Given the description of an element on the screen output the (x, y) to click on. 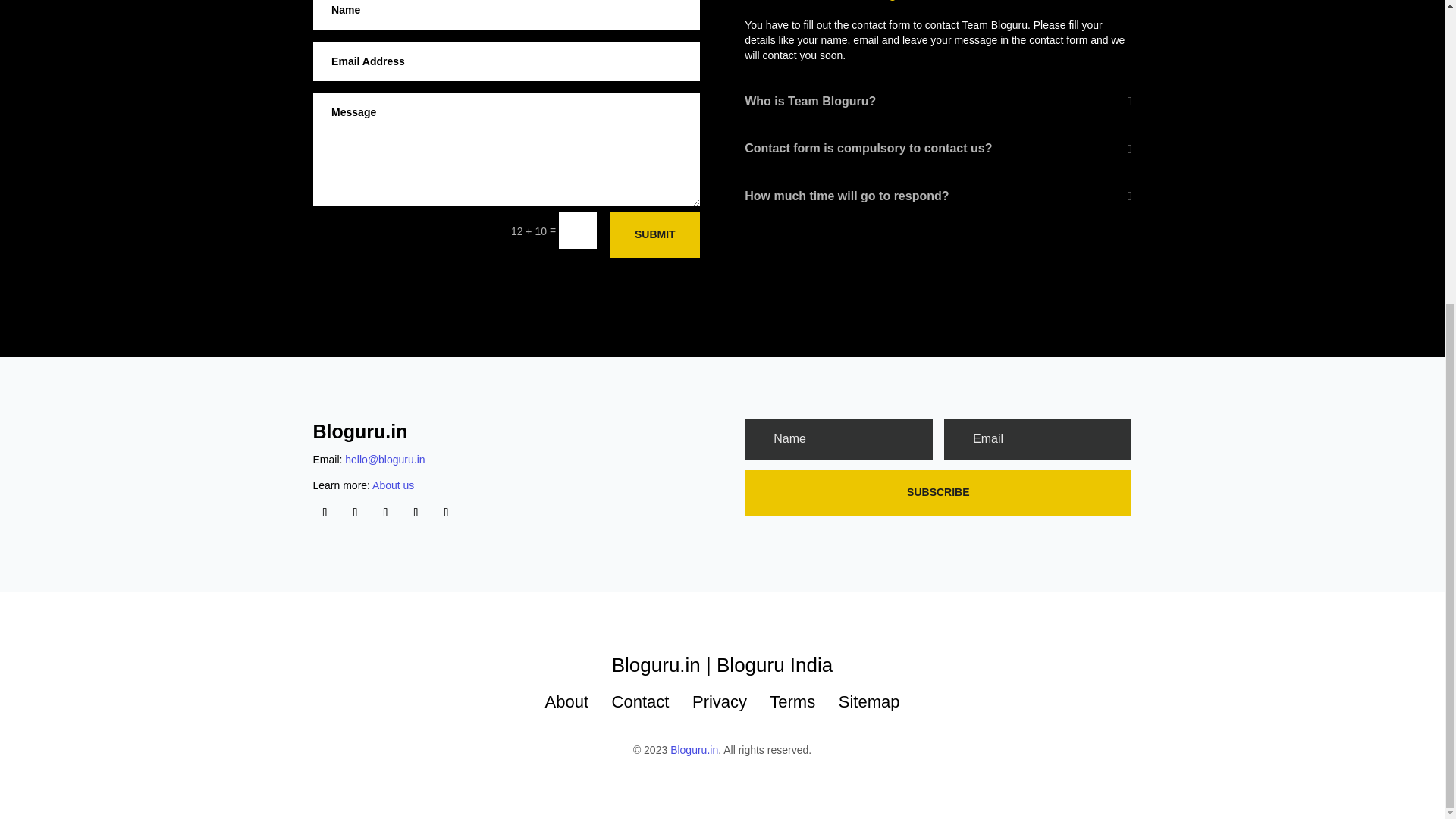
Bloguru India (774, 664)
About us (392, 485)
SUBMIT (655, 234)
Privacy (719, 701)
Follow on LinkedIn (445, 512)
Sitemap (868, 701)
Terms (792, 701)
Follow on X (415, 512)
Follow on Instagram (354, 512)
Follow on Facebook (324, 512)
